Given the description of an element on the screen output the (x, y) to click on. 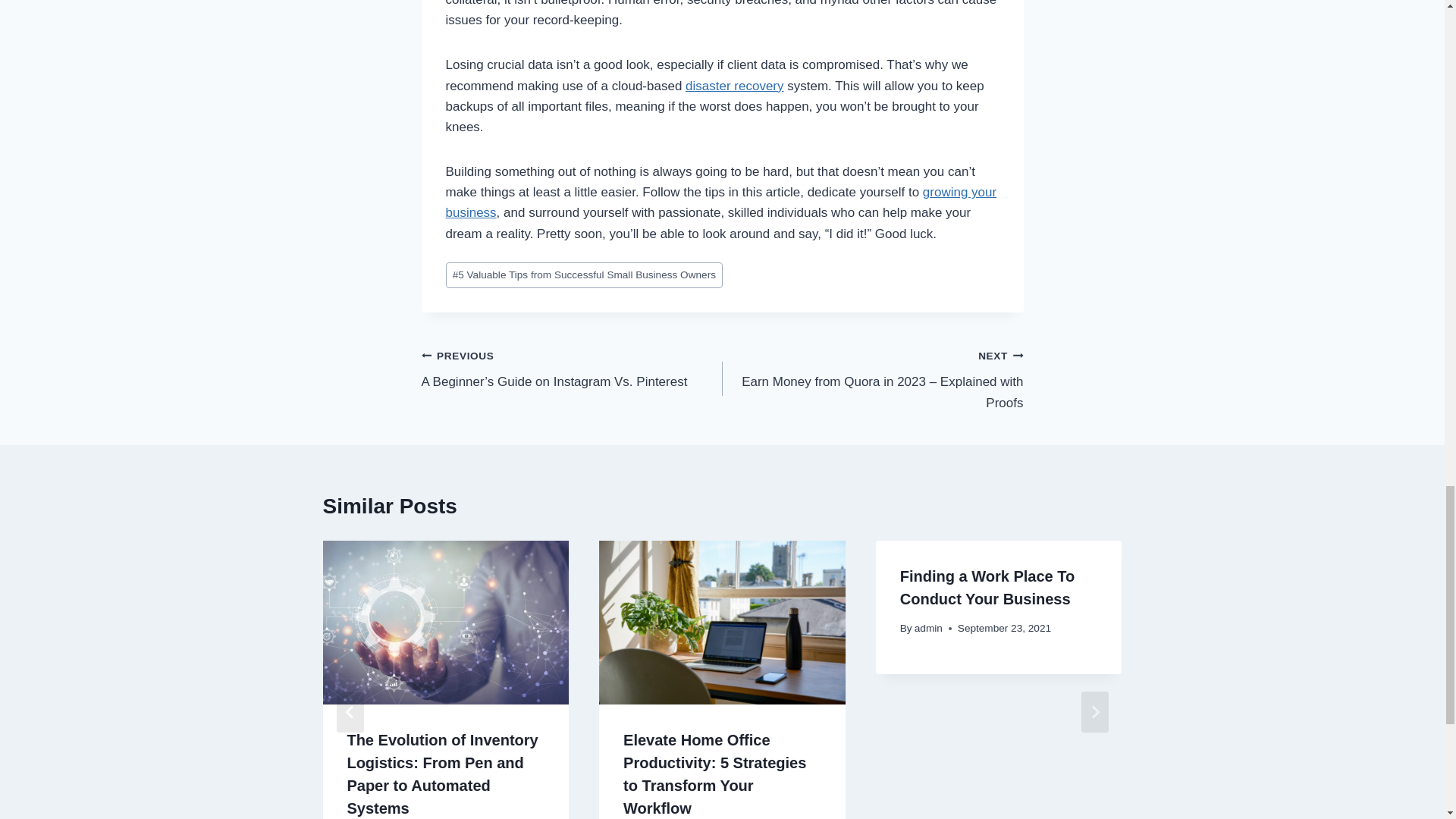
disaster recovery (734, 85)
growing your business (721, 202)
5 Valuable Tips from Successful Small Business Owners (584, 275)
